Given the description of an element on the screen output the (x, y) to click on. 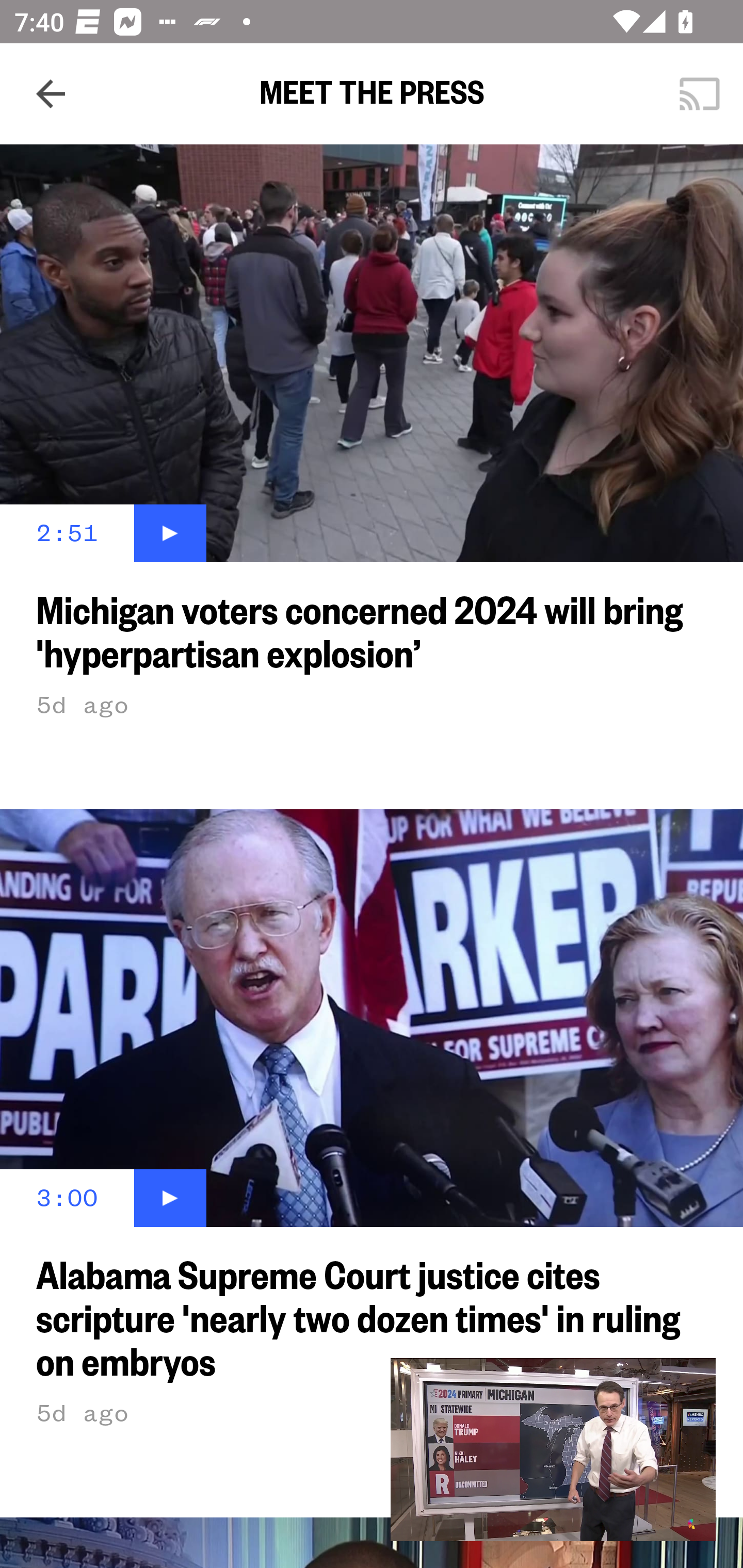
Navigate up (50, 93)
Cast. Disconnected (699, 93)
